Given the description of an element on the screen output the (x, y) to click on. 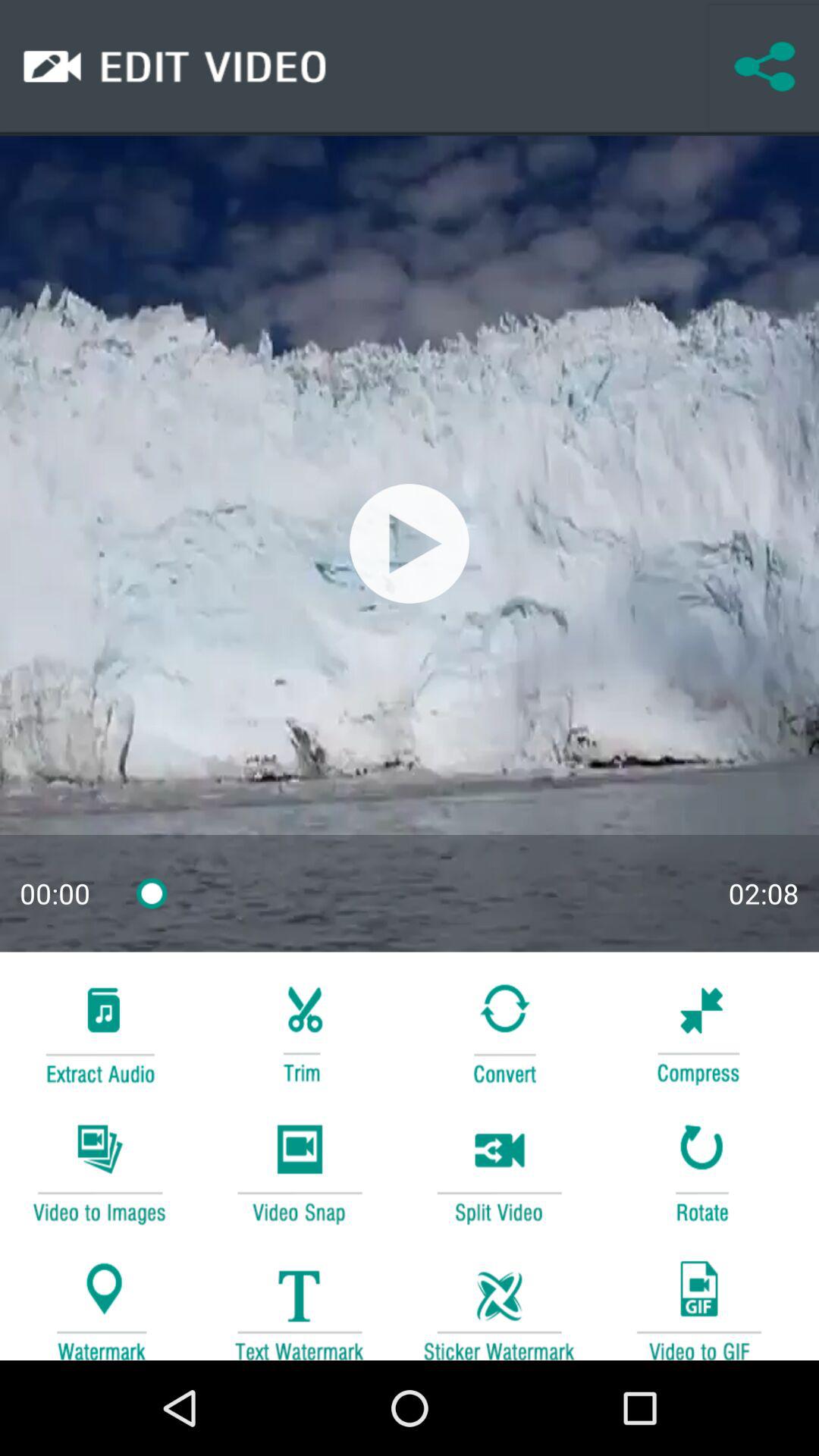
video app (698, 1303)
